Given the description of an element on the screen output the (x, y) to click on. 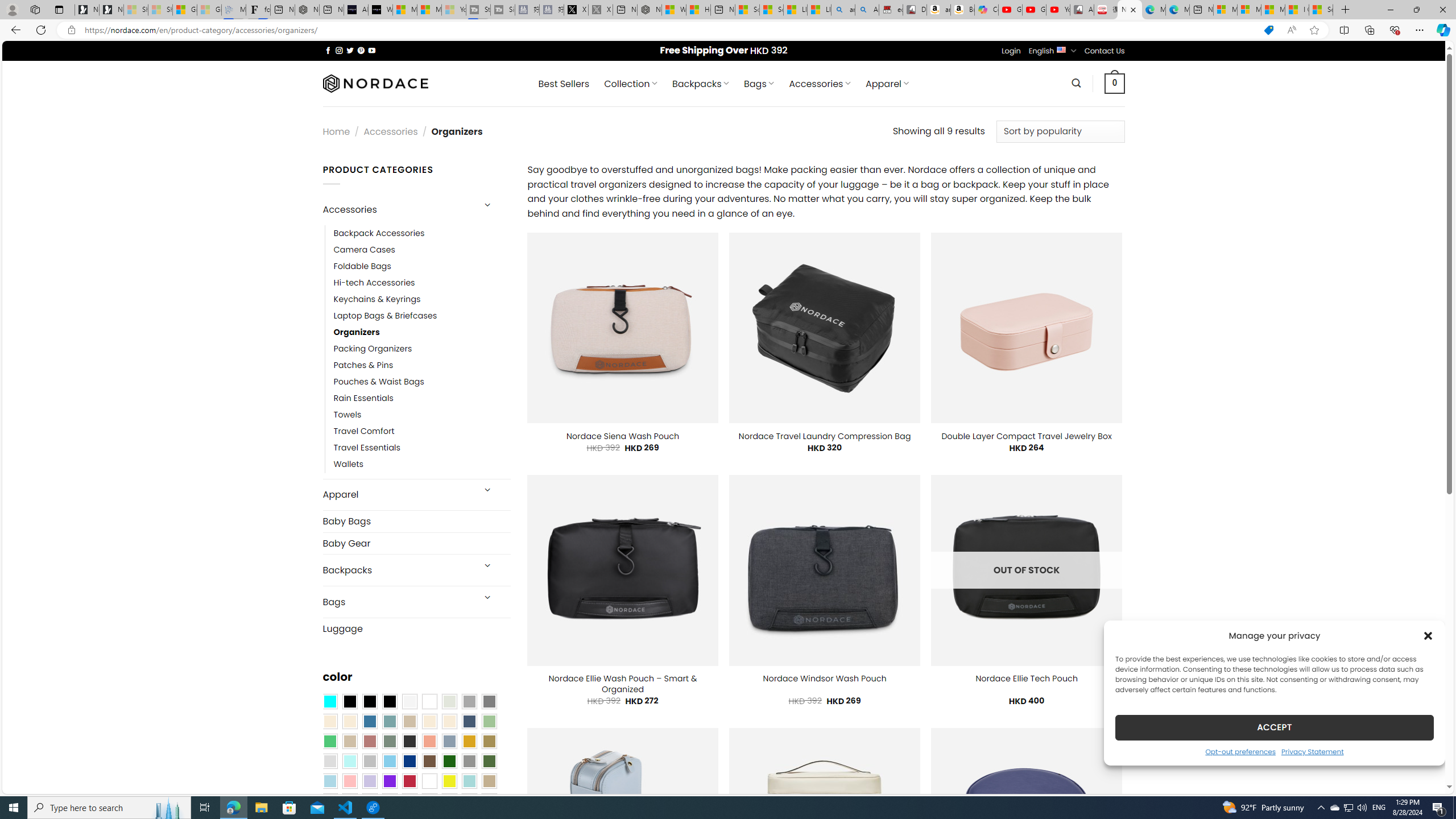
Travel Comfort (363, 431)
Light Taupe (349, 741)
Nordace Windsor Wash Pouch (824, 678)
Copilot (986, 9)
Sky Blue (389, 761)
  0   (1115, 83)
Dusty Blue (449, 741)
Laptop Bags & Briefcases (384, 316)
Nordace - #1 Japanese Best-Seller - Siena Smart Backpack (306, 9)
View site information (70, 29)
Gold (468, 741)
Foldable Bags (422, 265)
